Given the description of an element on the screen output the (x, y) to click on. 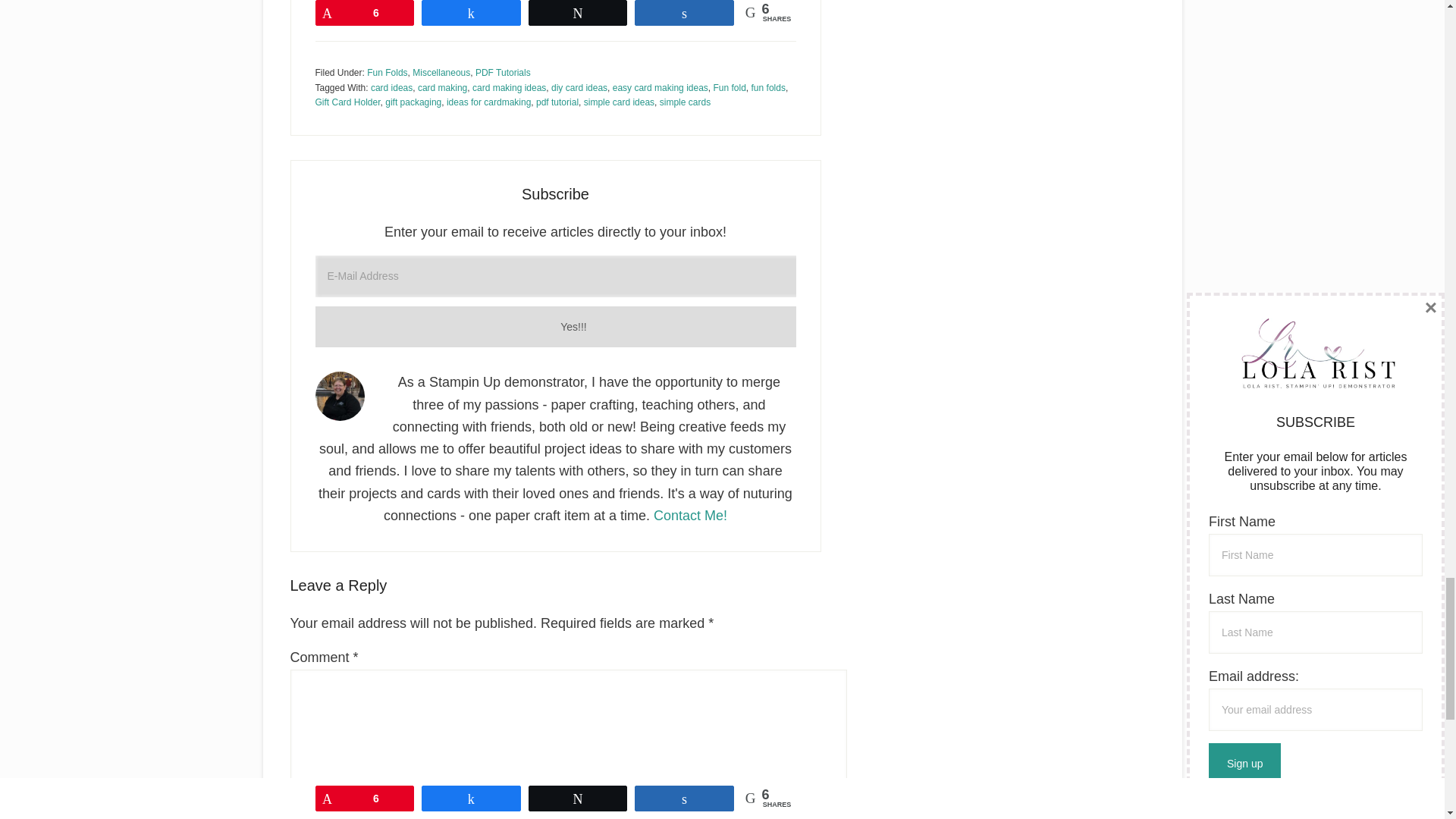
Yes!!! (573, 327)
